Given the description of an element on the screen output the (x, y) to click on. 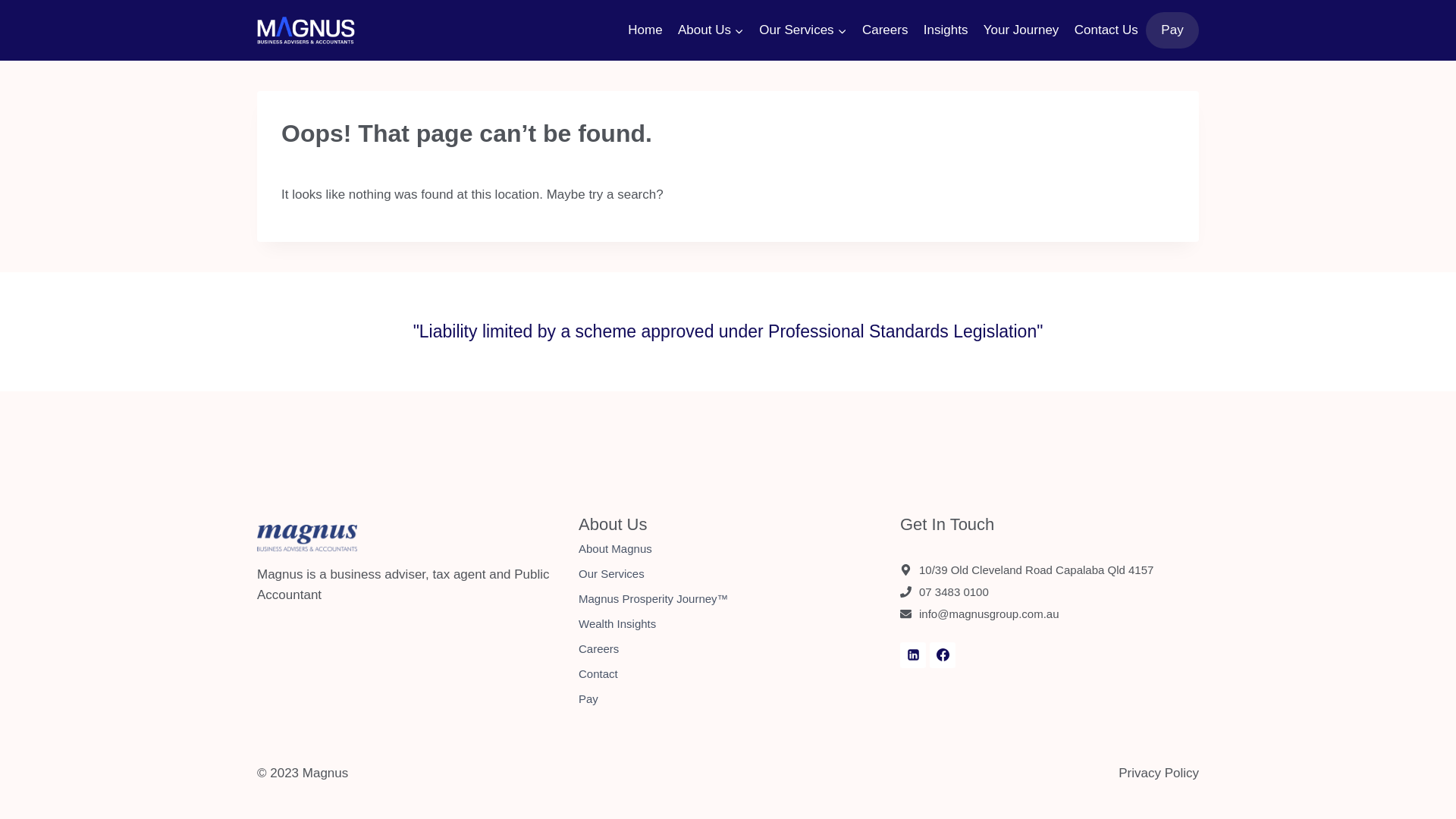
Careers Element type: text (885, 30)
About Us Element type: text (710, 30)
Pay Element type: text (1171, 30)
Contact Element type: text (727, 674)
About Magnus Element type: text (727, 548)
info@magnusgroup.com.au Element type: text (989, 613)
Wealth Insights Element type: text (727, 624)
Pay Element type: text (727, 699)
Insights Element type: text (945, 30)
Contact Us Element type: text (1105, 30)
Careers Element type: text (727, 649)
Home Element type: text (645, 30)
Our Services Element type: text (727, 573)
Your Journey Element type: text (1020, 30)
Our Services Element type: text (802, 30)
Privacy Policy Element type: text (1158, 772)
